Given the description of an element on the screen output the (x, y) to click on. 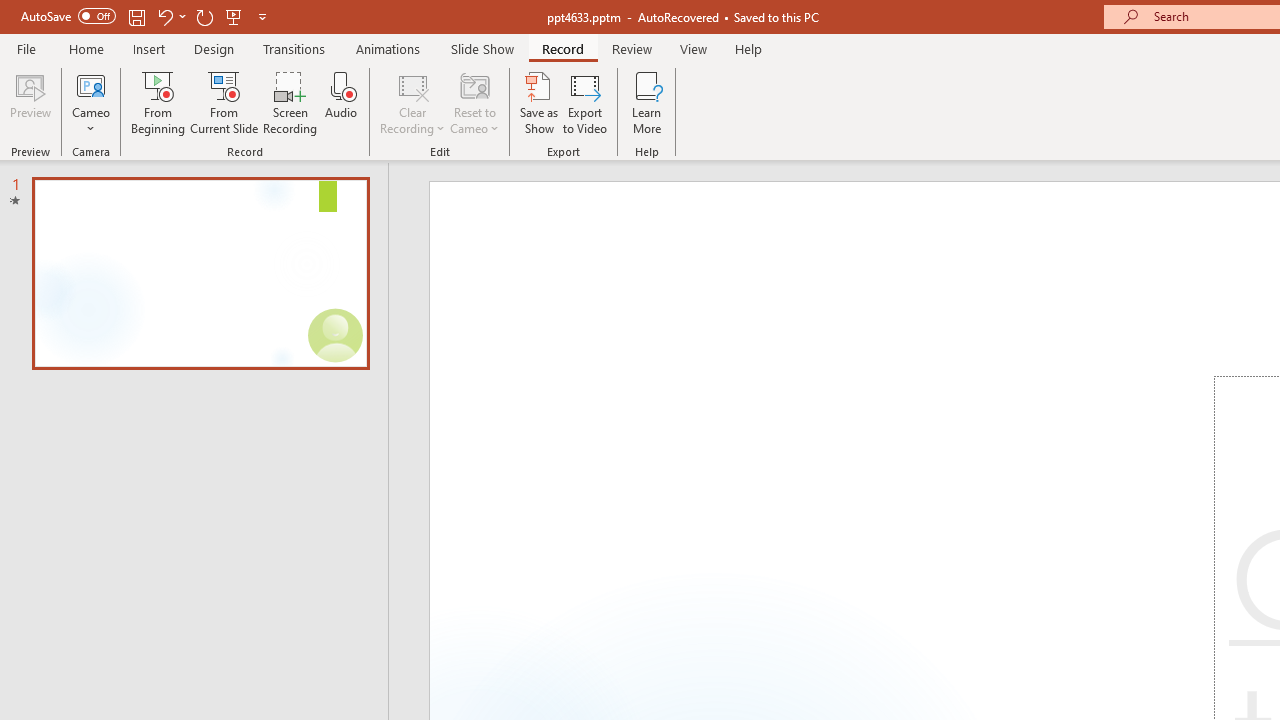
From Beginning... (158, 102)
Audio (341, 102)
Clear Recording (412, 102)
From Current Slide... (224, 102)
Reset to Cameo (474, 102)
